Given the description of an element on the screen output the (x, y) to click on. 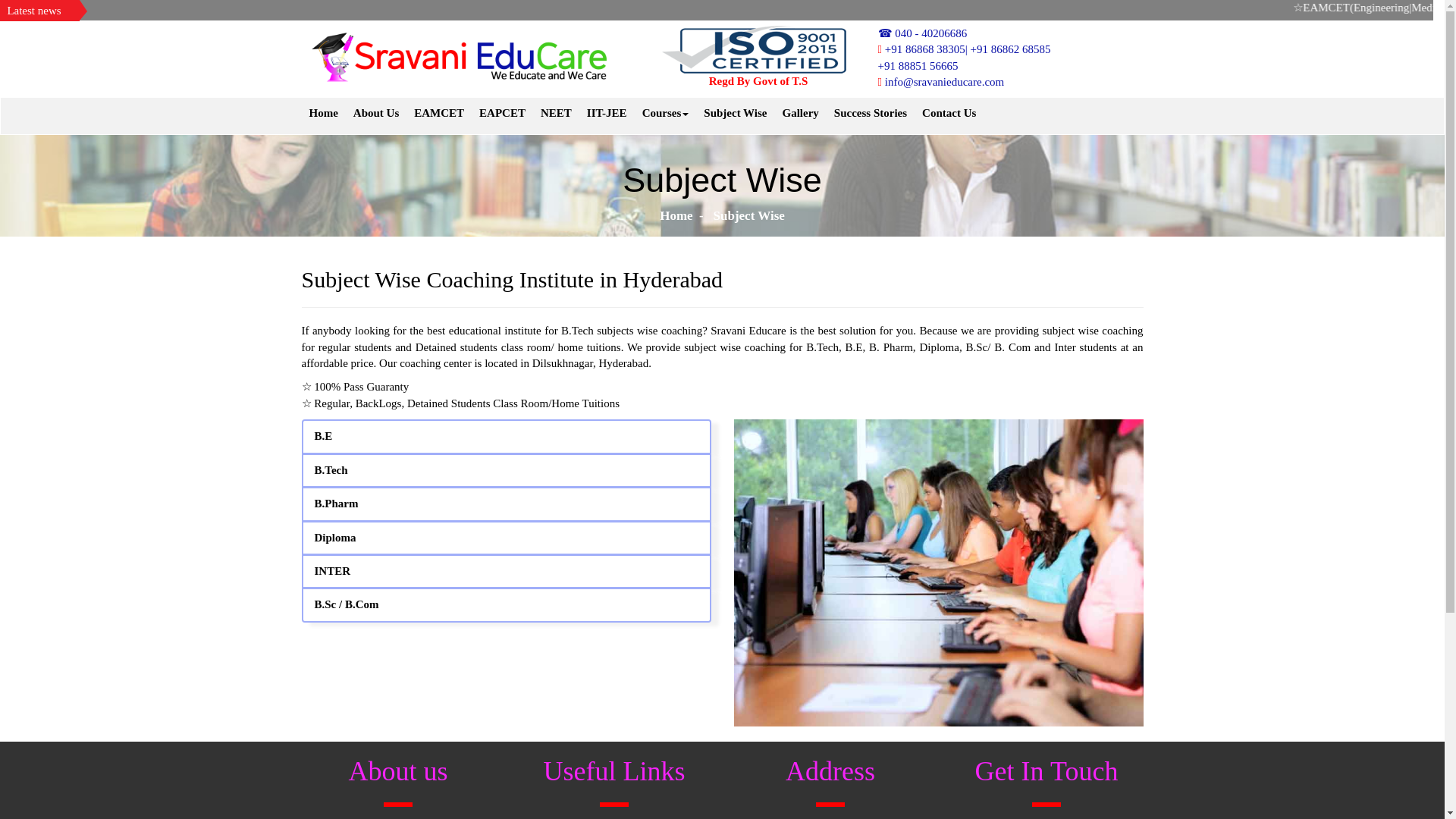
Subject Wise coaching centre (937, 572)
Home (676, 215)
Subject Wise (734, 112)
EAPCET (501, 112)
About Us (376, 112)
NEET (555, 112)
Gallery (800, 112)
Success Stories (870, 112)
IIT-JEE (606, 112)
Courses (665, 112)
Contact Us (949, 112)
Subject Wise (747, 215)
Home (323, 112)
EAMCET (438, 112)
